Given the description of an element on the screen output the (x, y) to click on. 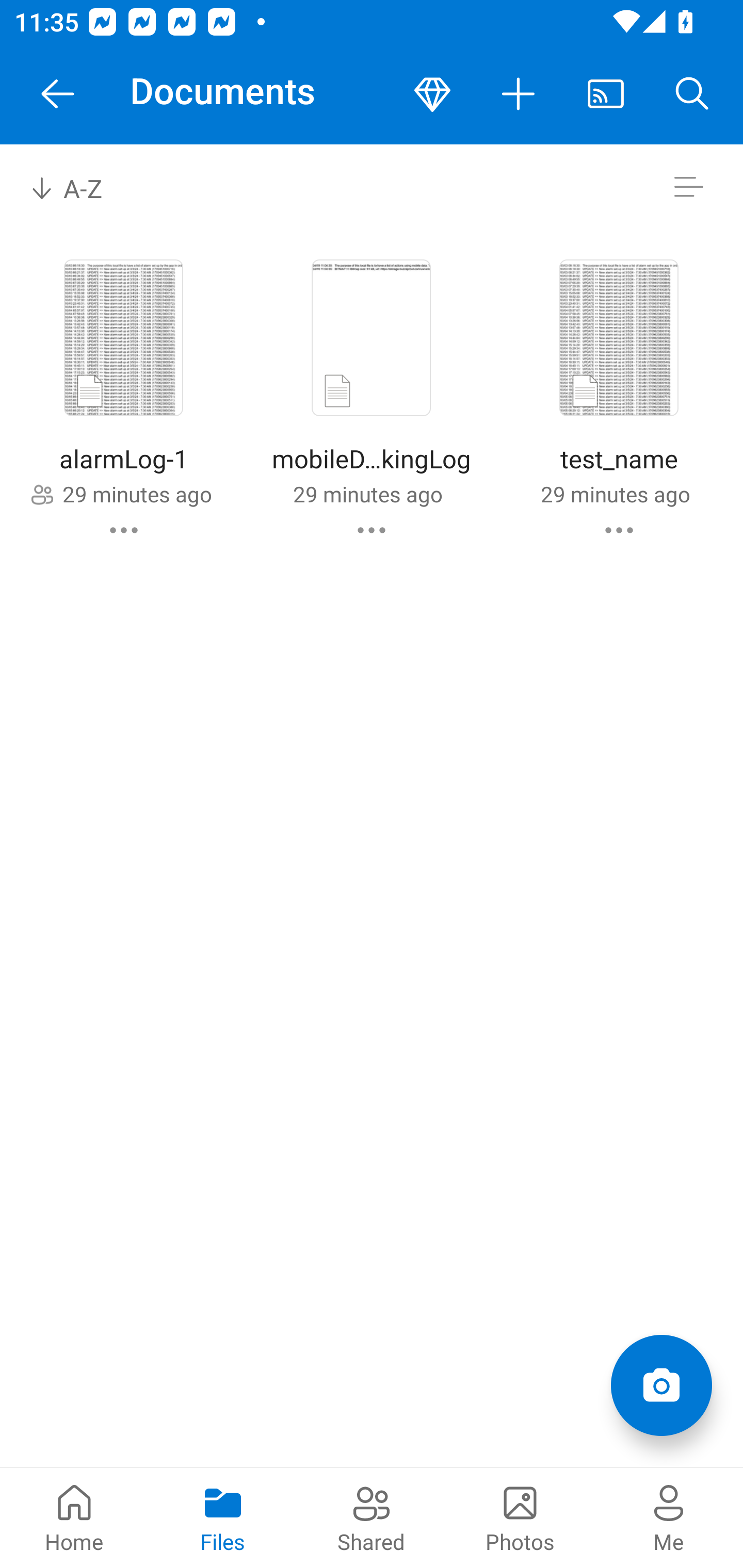
Navigate Up (57, 93)
Cast. Disconnected (605, 93)
Premium button (432, 93)
More actions button (518, 93)
Search button (692, 93)
A-Z Sort by combo box, sort by name, A to Z (80, 187)
Switch to list view (688, 187)
29 minutes ago (136, 493)
29 minutes ago (367, 493)
29 minutes ago (615, 493)
alarmLog-1 commands (123, 529)
mobileDataTrackingLog commands (371, 529)
test_name commands (618, 529)
Add items Scan (660, 1385)
Home pivot Home (74, 1517)
Shared pivot Shared (371, 1517)
Photos pivot Photos (519, 1517)
Me pivot Me (668, 1517)
